Given the description of an element on the screen output the (x, y) to click on. 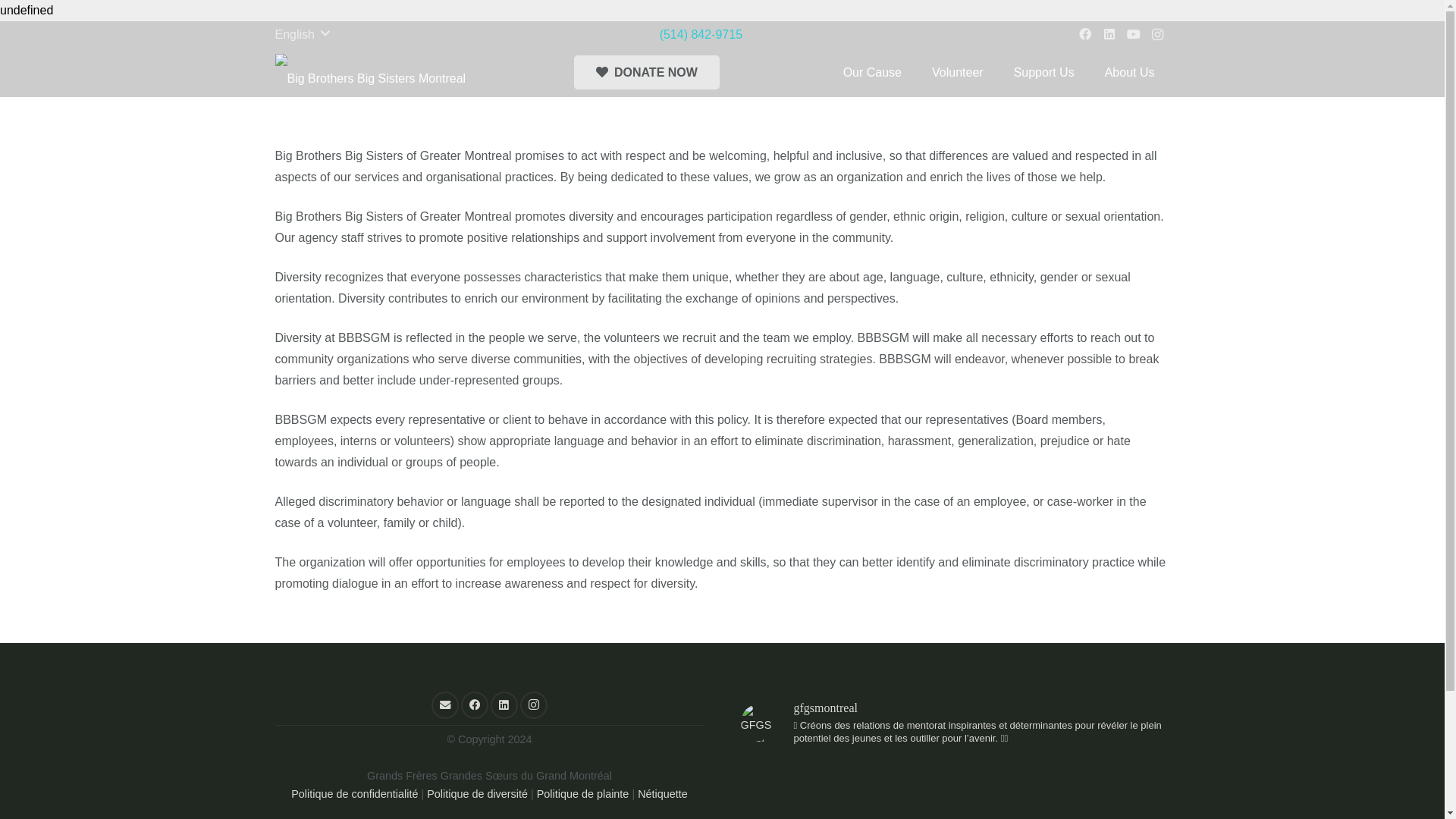
English (301, 34)
DONATE NOW (646, 72)
Volunteer (957, 72)
LinkedIn (1109, 34)
Courriel (444, 705)
Politique de plainte (582, 793)
Instagram (1157, 34)
YouTube (1133, 34)
Support Us (1043, 72)
About Us (1129, 72)
